Given the description of an element on the screen output the (x, y) to click on. 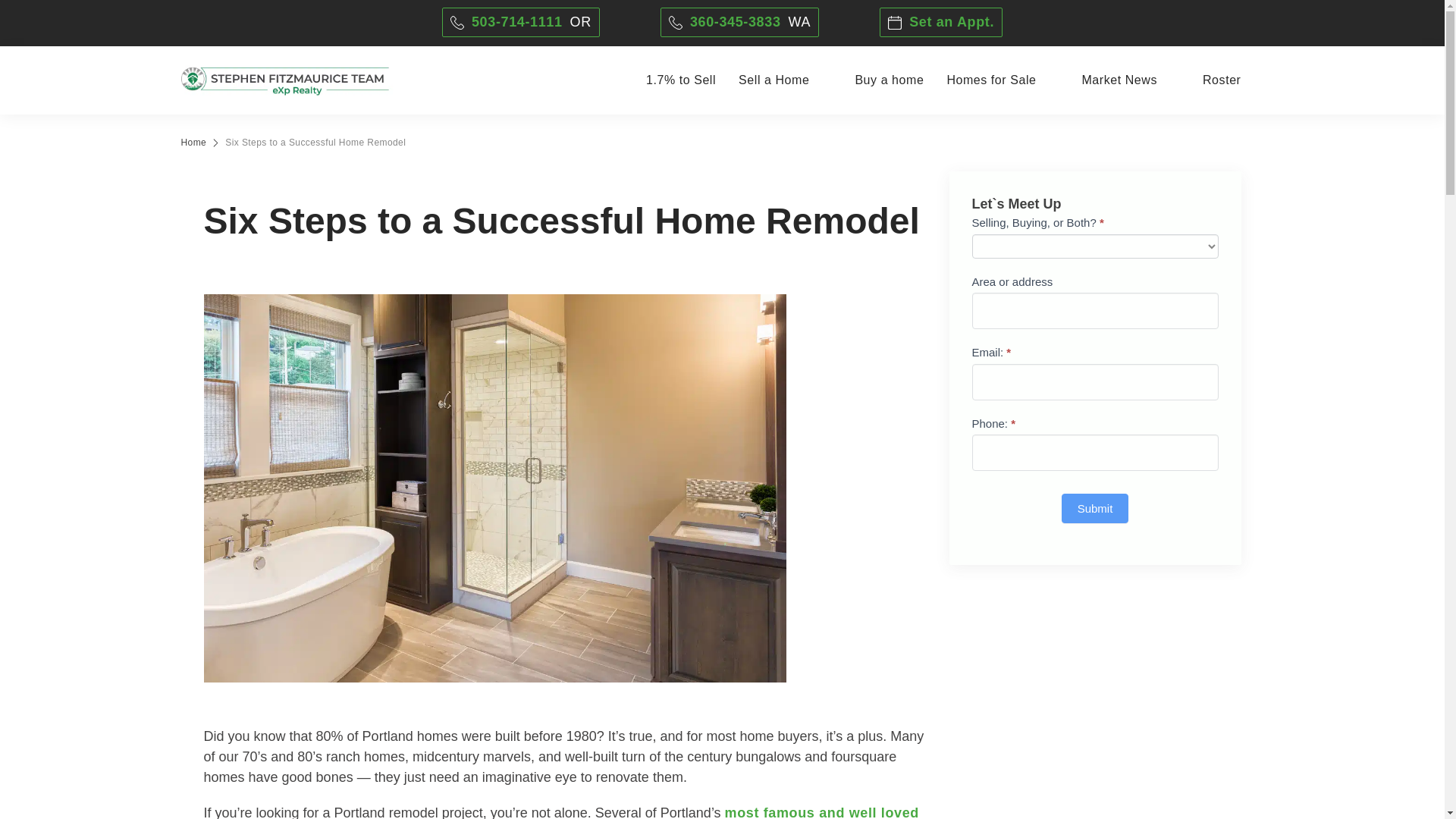
Buy a home (888, 79)
Submit (520, 21)
Home (1095, 508)
most famous and well loved landmarks (193, 143)
Set an Appt. (560, 812)
